Given the description of an element on the screen output the (x, y) to click on. 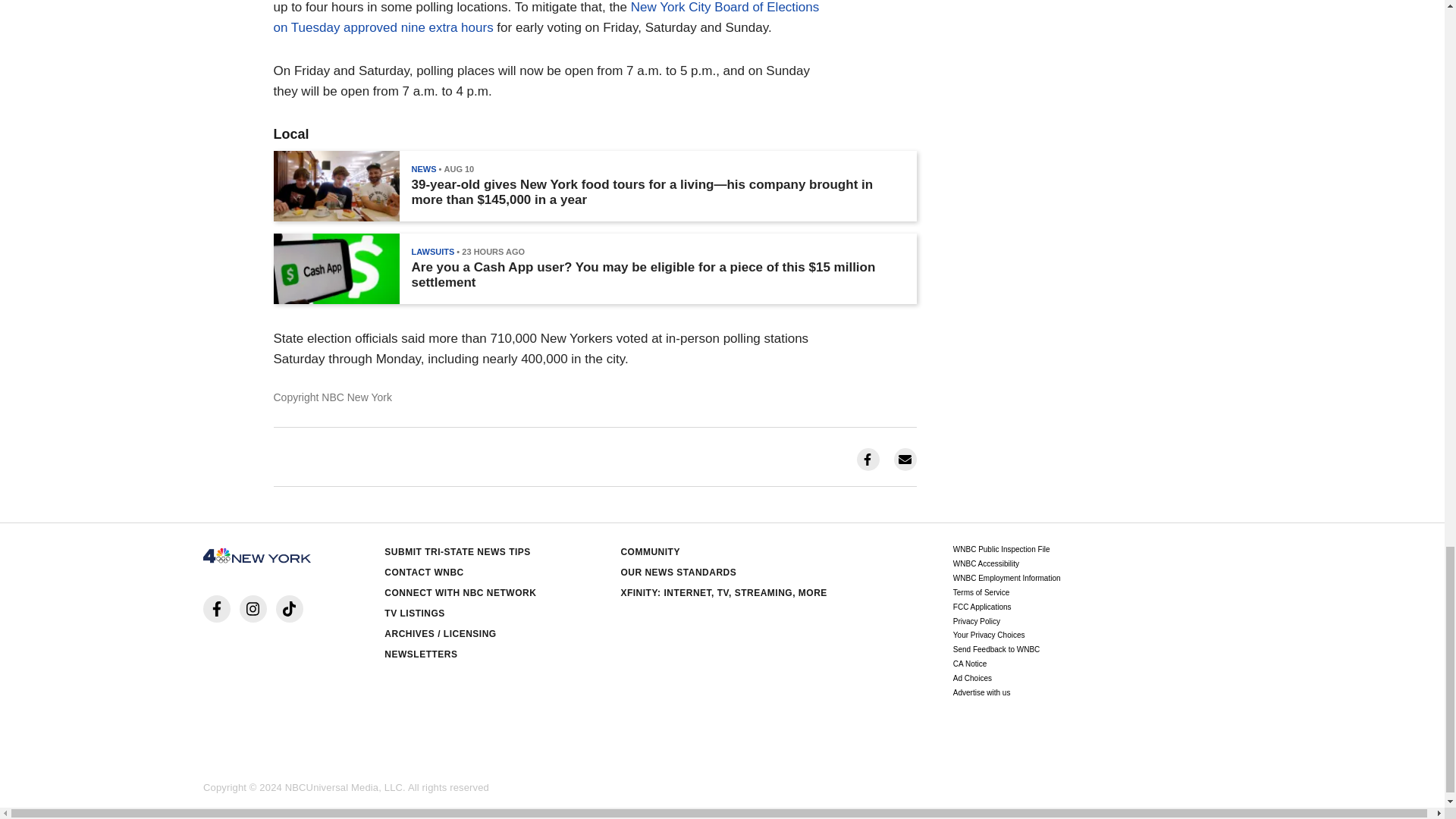
LAWSUITS (432, 251)
NEWS (422, 168)
